Given the description of an element on the screen output the (x, y) to click on. 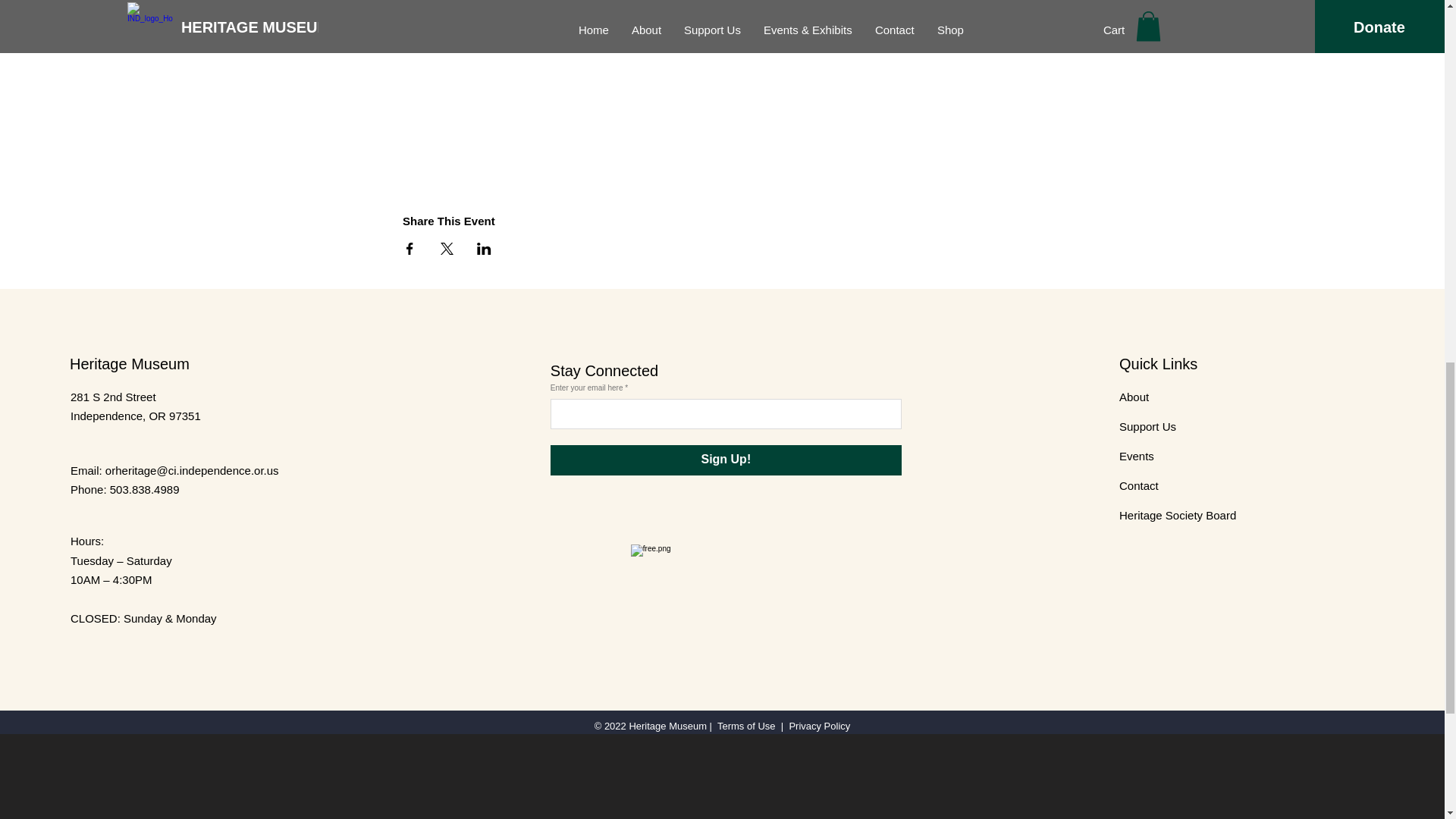
Heritage Society Board (1177, 513)
Contact (1138, 485)
Events (1136, 454)
Sign Up! (725, 459)
Support Us (1147, 426)
Terms of Use (746, 726)
About (1133, 395)
Privacy Policy (819, 726)
